Given the description of an element on the screen output the (x, y) to click on. 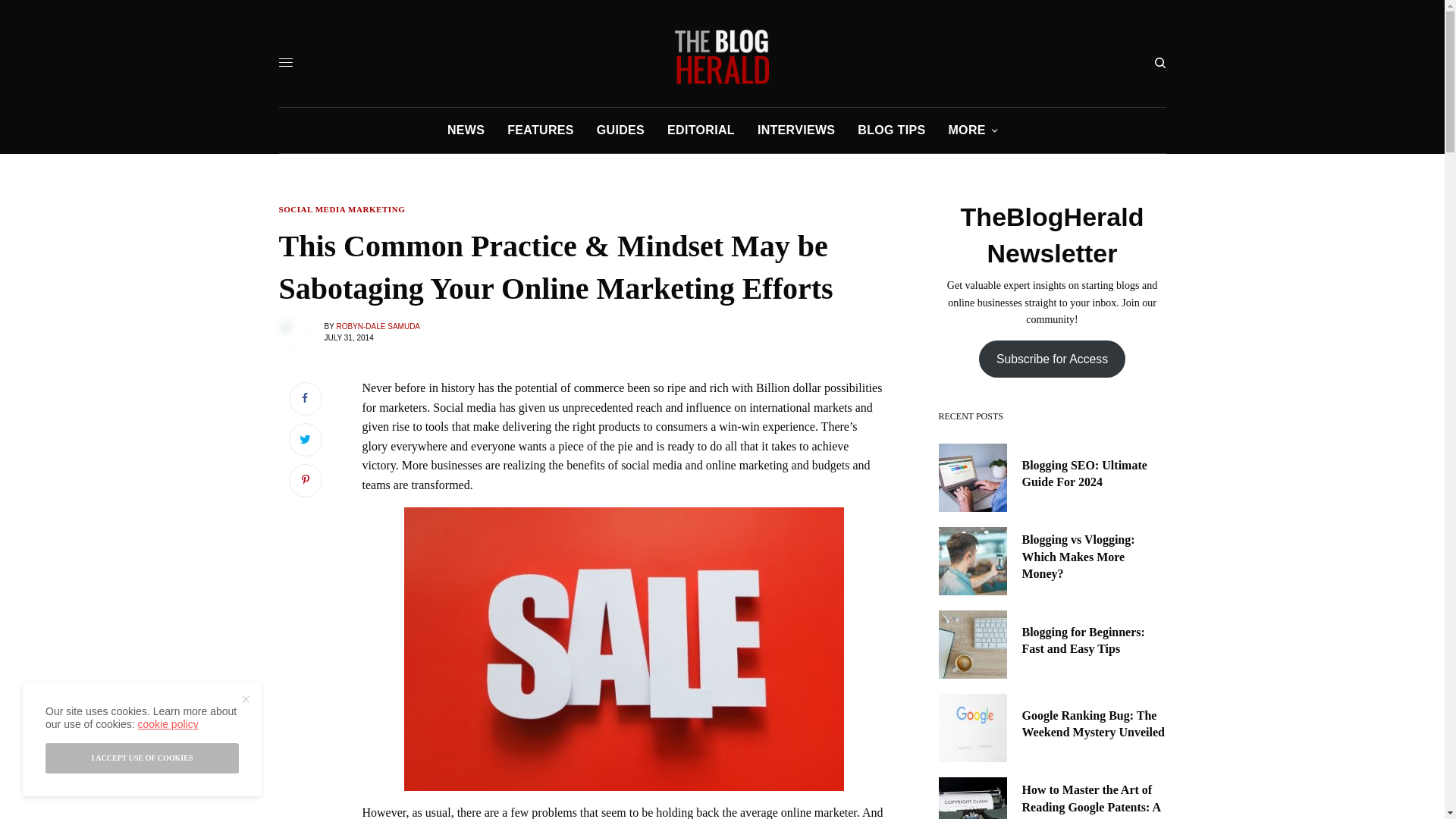
Google Ranking Bug: The Weekend Mystery Unveiled (1094, 724)
MORE (972, 130)
INTERVIEWS (795, 130)
Blogging SEO: Ultimate Guide For 2024 (1094, 474)
ROBYN-DALE SAMUDA (378, 326)
BLOG TIPS (890, 130)
The Blog Herald (722, 56)
EDITORIAL (700, 130)
FEATURES (539, 130)
